Given the description of an element on the screen output the (x, y) to click on. 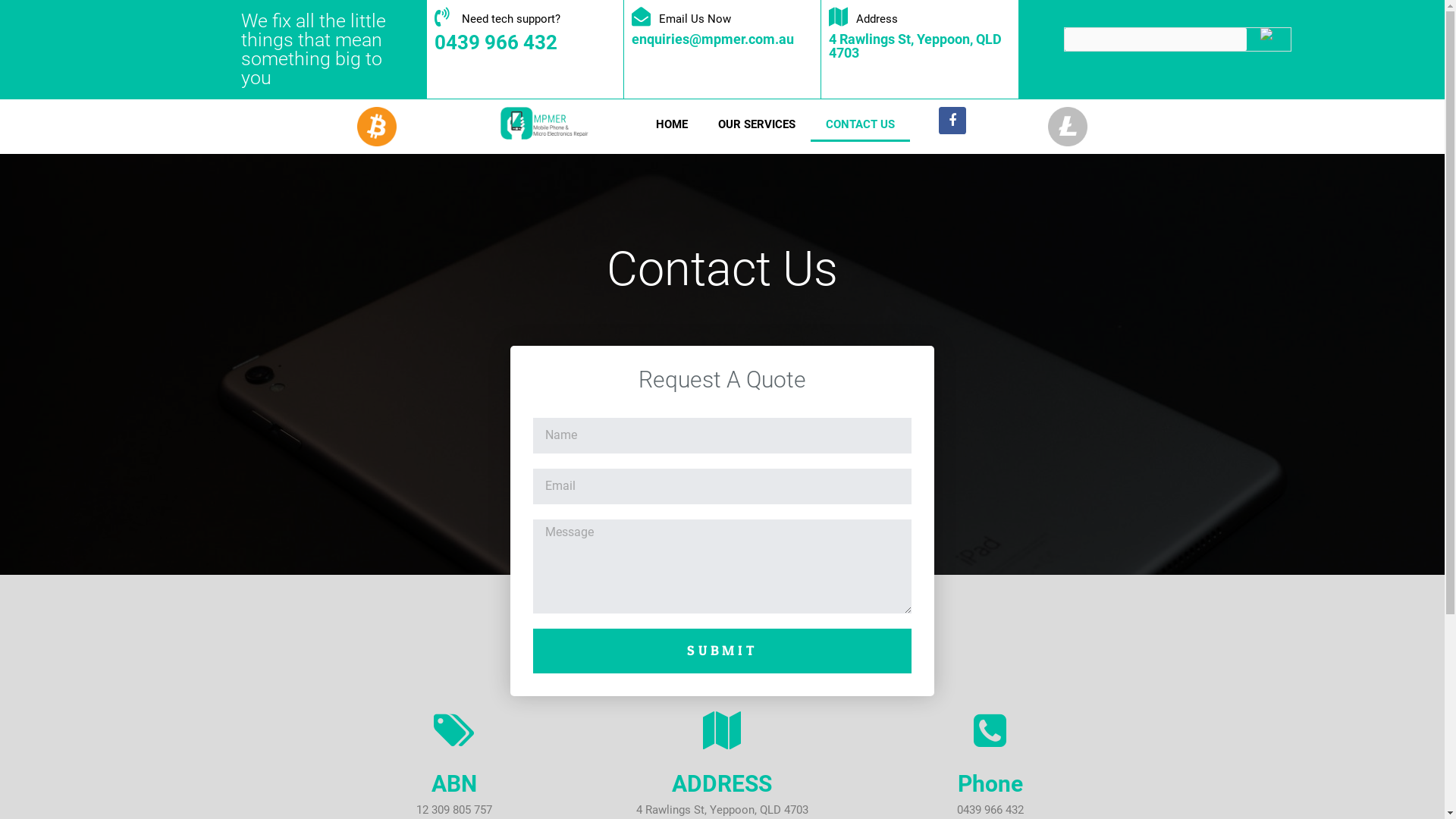
OUR SERVICES Element type: text (756, 123)
0439 966 432 Element type: text (494, 42)
SUBMIT Element type: text (722, 650)
4 Rawlings St, Yeppoon, QLD 4703 Element type: text (914, 45)
enquiries@mpmer.com.au Element type: text (711, 39)
CONTACT US Element type: text (860, 123)
Email Us Now Element type: text (721, 19)
HOME Element type: text (671, 123)
